Given the description of an element on the screen output the (x, y) to click on. 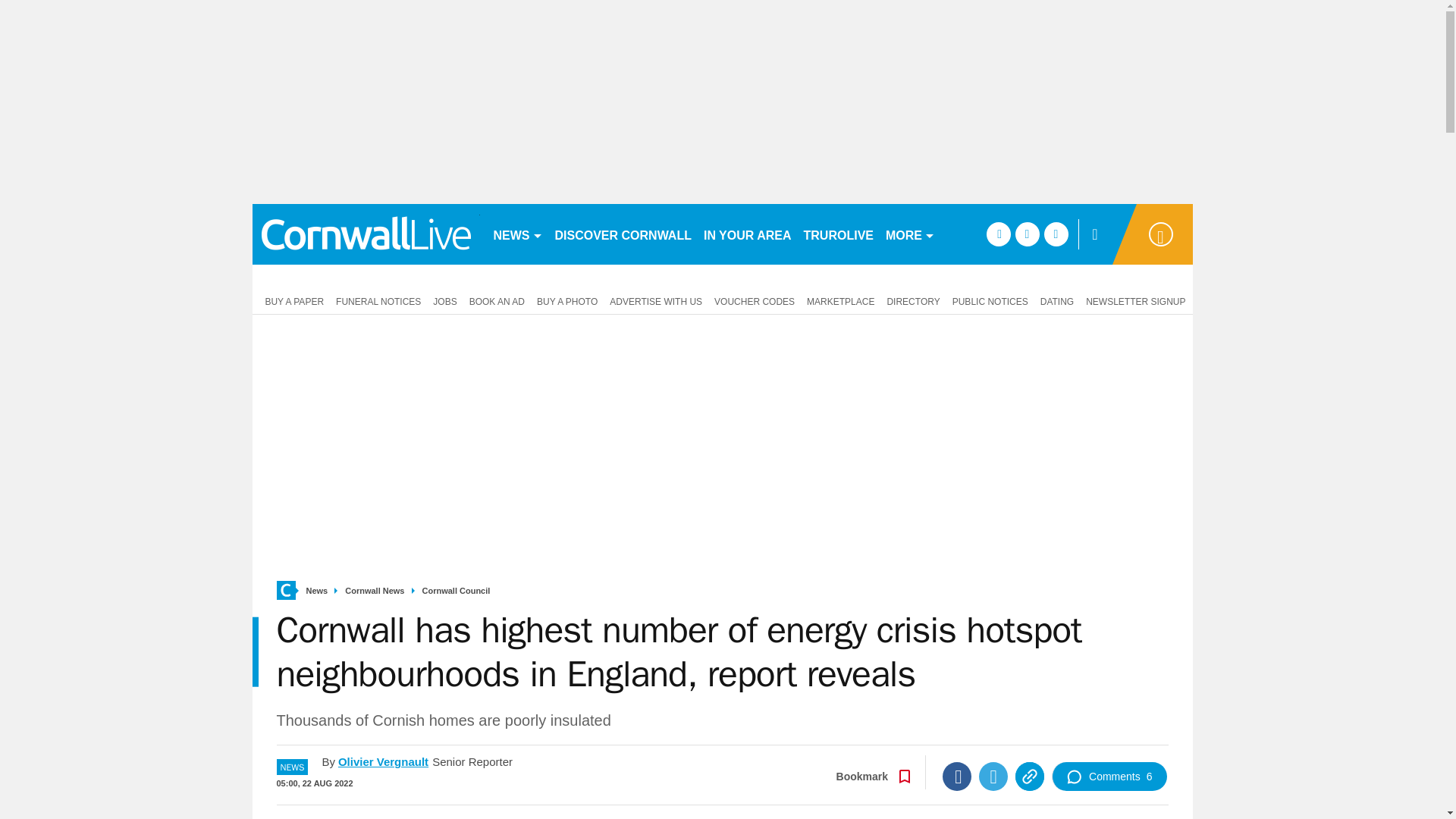
facebook (997, 233)
cornwalllive (365, 233)
Twitter (992, 776)
twitter (1026, 233)
NEWS (517, 233)
IN YOUR AREA (747, 233)
TRUROLIVE (838, 233)
DISCOVER CORNWALL (622, 233)
Comments (1108, 776)
instagram (1055, 233)
